Given the description of an element on the screen output the (x, y) to click on. 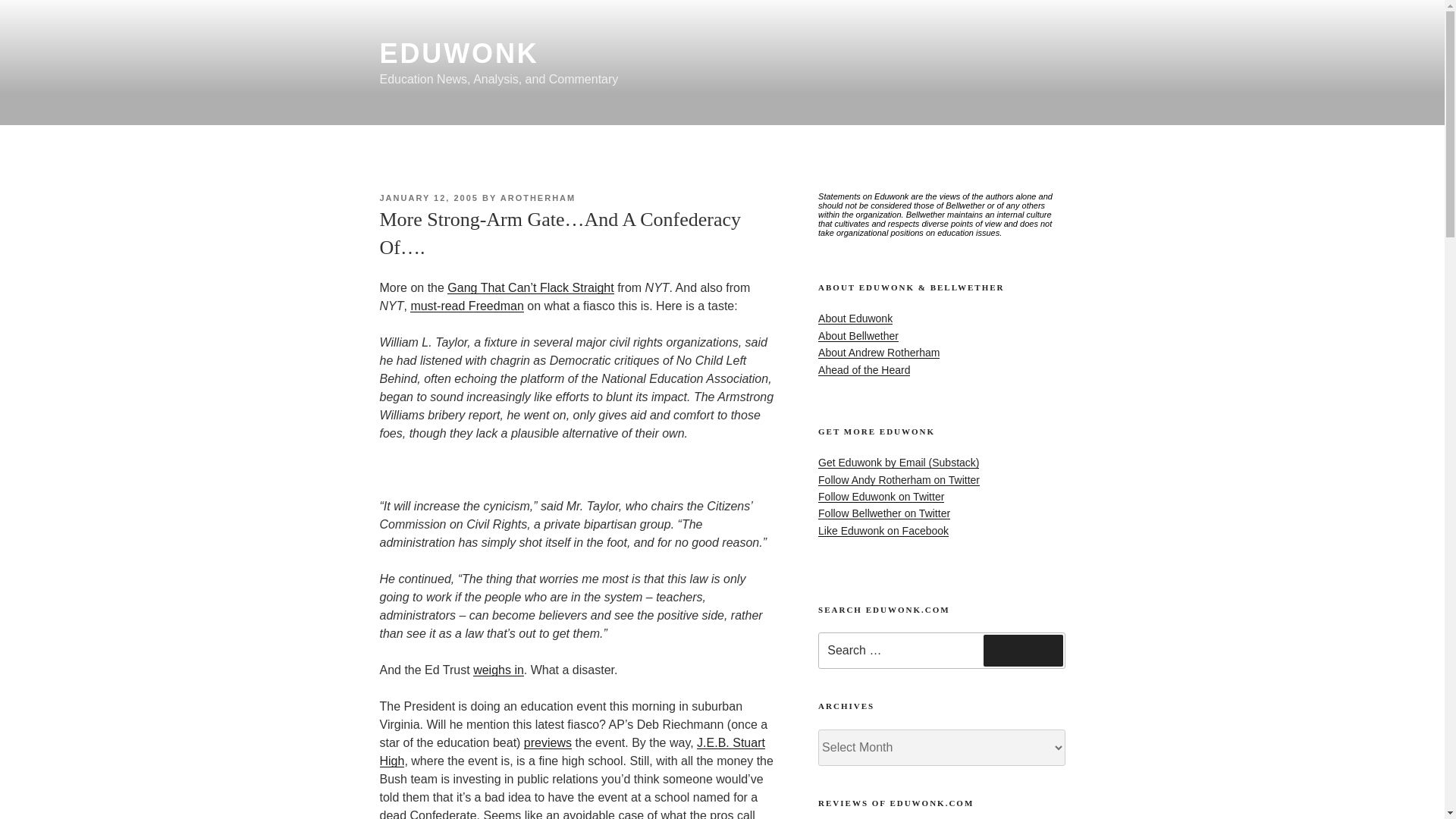
must-read Freedman (466, 305)
Ahead of the Heard (864, 369)
About Andrew Rotherham (878, 352)
Like Eduwonk on Facebook (883, 530)
Follow Eduwonk on Twitter (880, 496)
weighs in (498, 669)
Follow Andy Rotherham on Twitter (898, 480)
AROTHERHAM (537, 197)
Follow Bellwether on Twitter (884, 512)
JANUARY 12, 2005 (427, 197)
previews (548, 742)
EDUWONK (458, 52)
Search (1023, 650)
About Bellwether (858, 336)
J.E.B. Stuart High (571, 751)
